Given the description of an element on the screen output the (x, y) to click on. 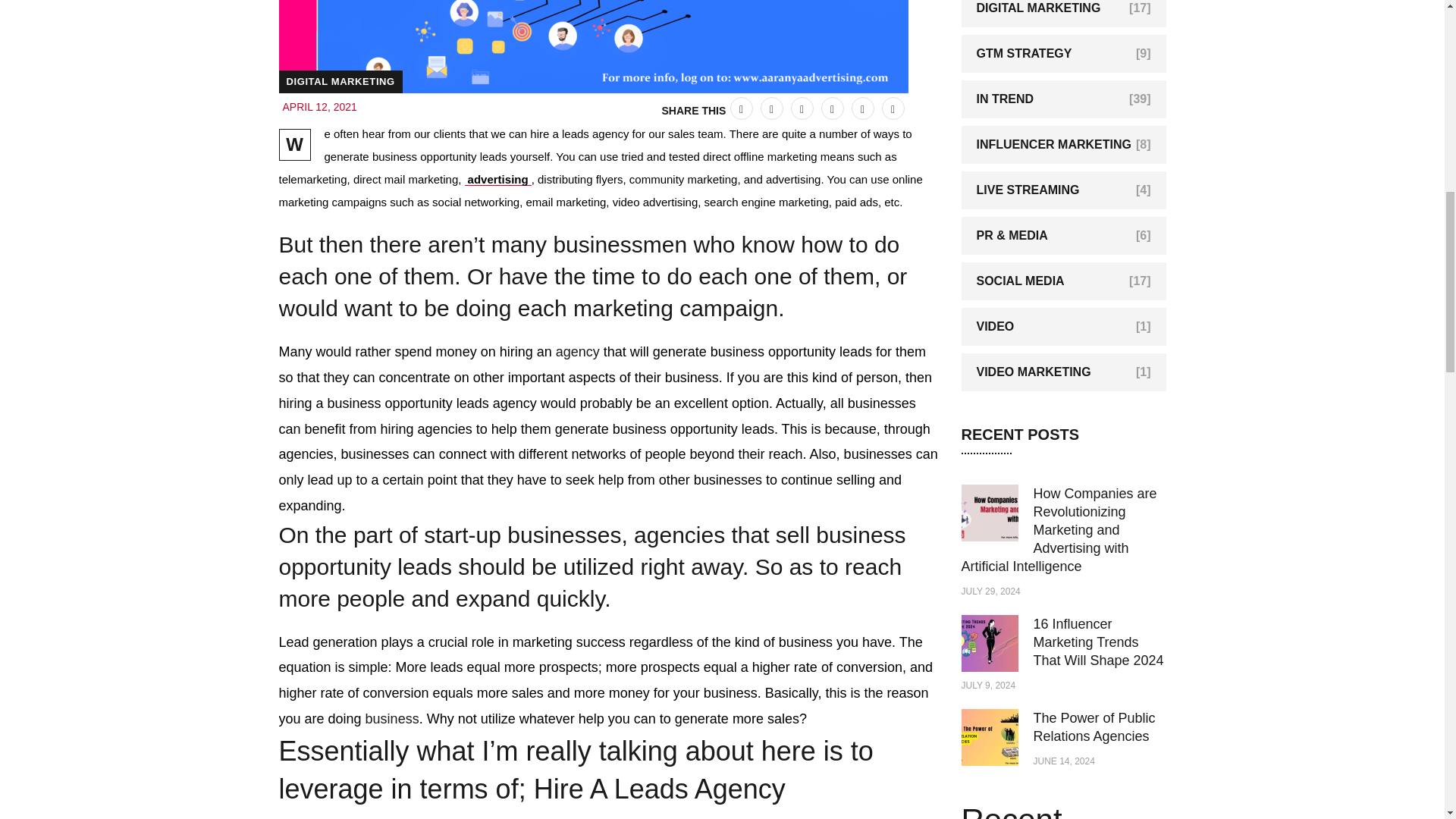
LinkedIn (832, 108)
Tumblr (861, 108)
Twitter (740, 108)
Pinterest (801, 108)
Reddit (892, 108)
Facebook (771, 108)
